Given the description of an element on the screen output the (x, y) to click on. 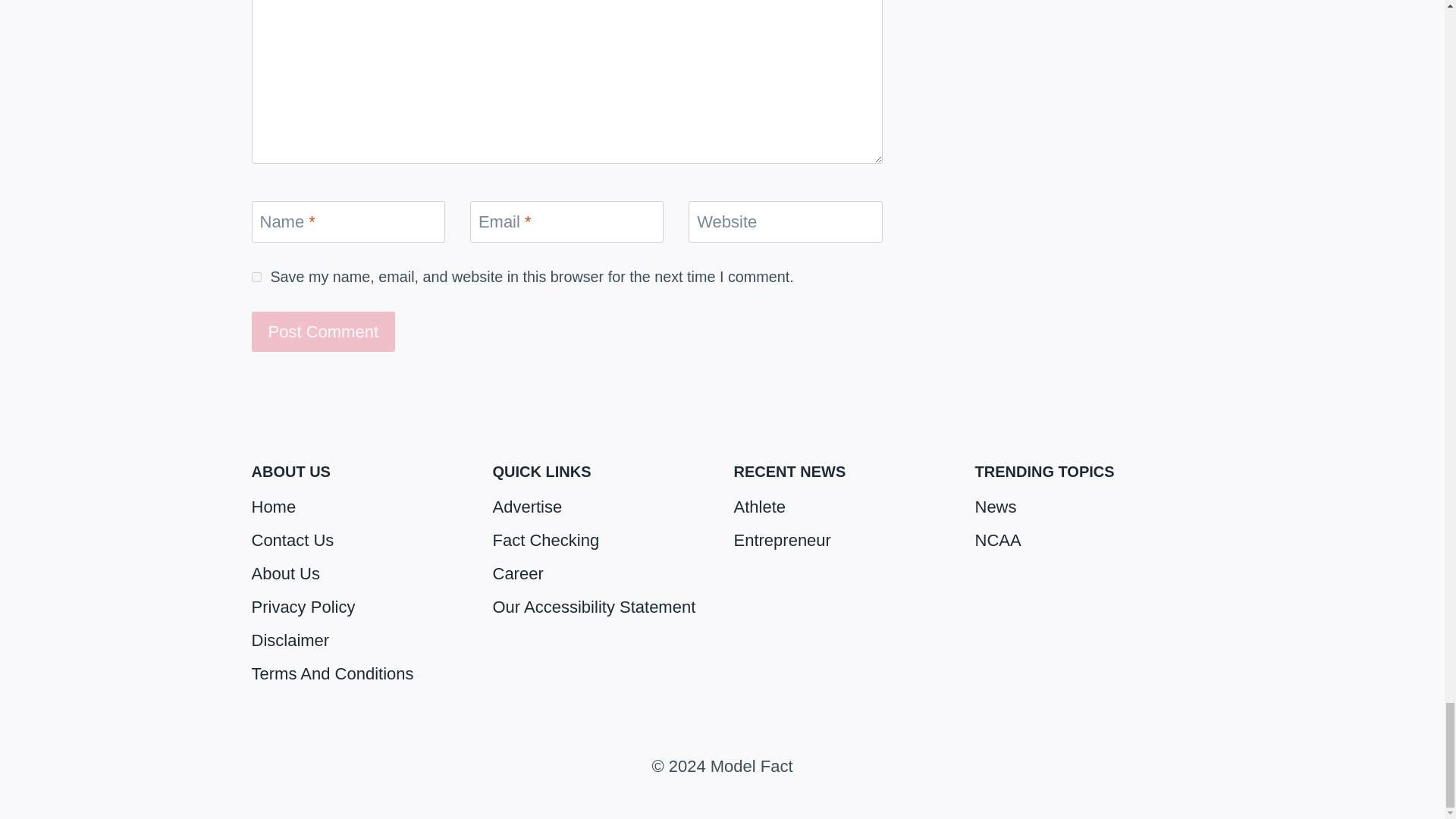
Career (602, 573)
About Us (360, 573)
Privacy Policy (360, 607)
Home (360, 507)
NCAA (1084, 540)
Entrepreneur (842, 540)
Contact Us (360, 540)
Post Comment (323, 332)
yes (256, 276)
Athlete (842, 507)
Our Accessibility Statement (602, 607)
Fact Checking (602, 540)
News (1084, 507)
Terms And Conditions (360, 674)
Post Comment (323, 332)
